Given the description of an element on the screen output the (x, y) to click on. 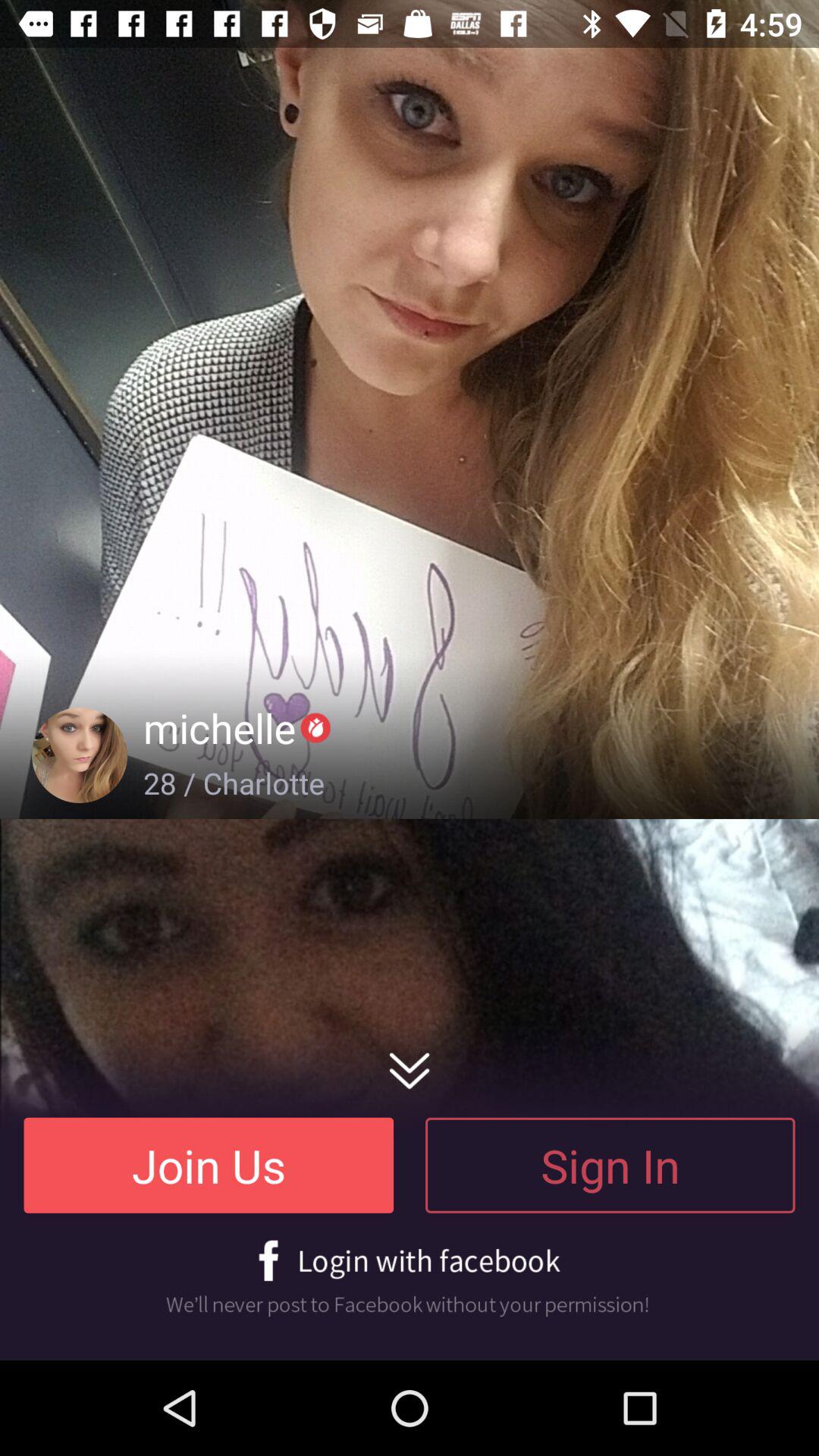
turn on the join us item (208, 1165)
